Given the description of an element on the screen output the (x, y) to click on. 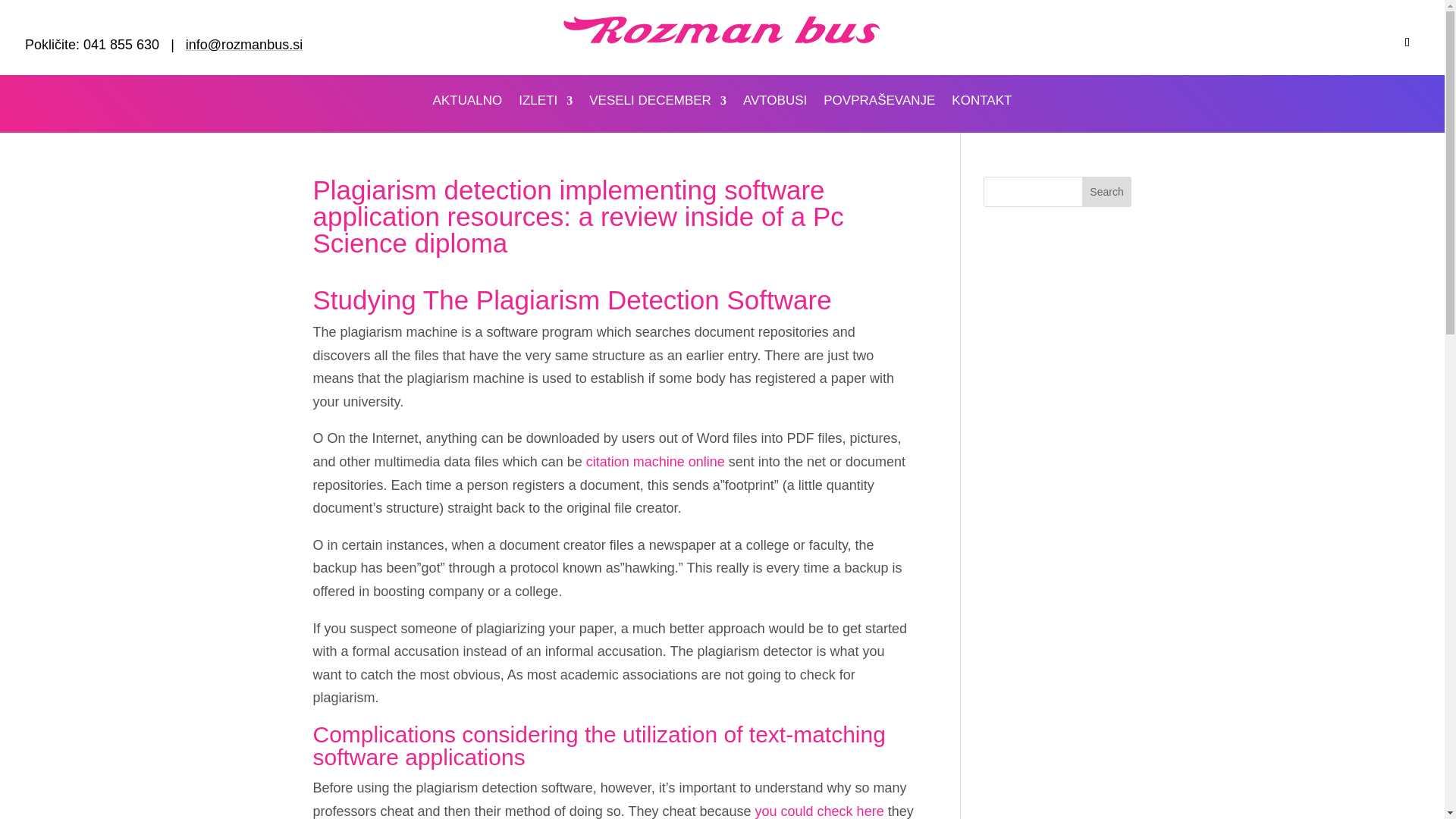
KONTAKT (981, 103)
VESELI DECEMBER (657, 103)
Search (1106, 191)
Follow on Facebook (1406, 42)
AKTUALNO (467, 103)
AVTOBUSI (774, 103)
IZLETI (545, 103)
